Given the description of an element on the screen output the (x, y) to click on. 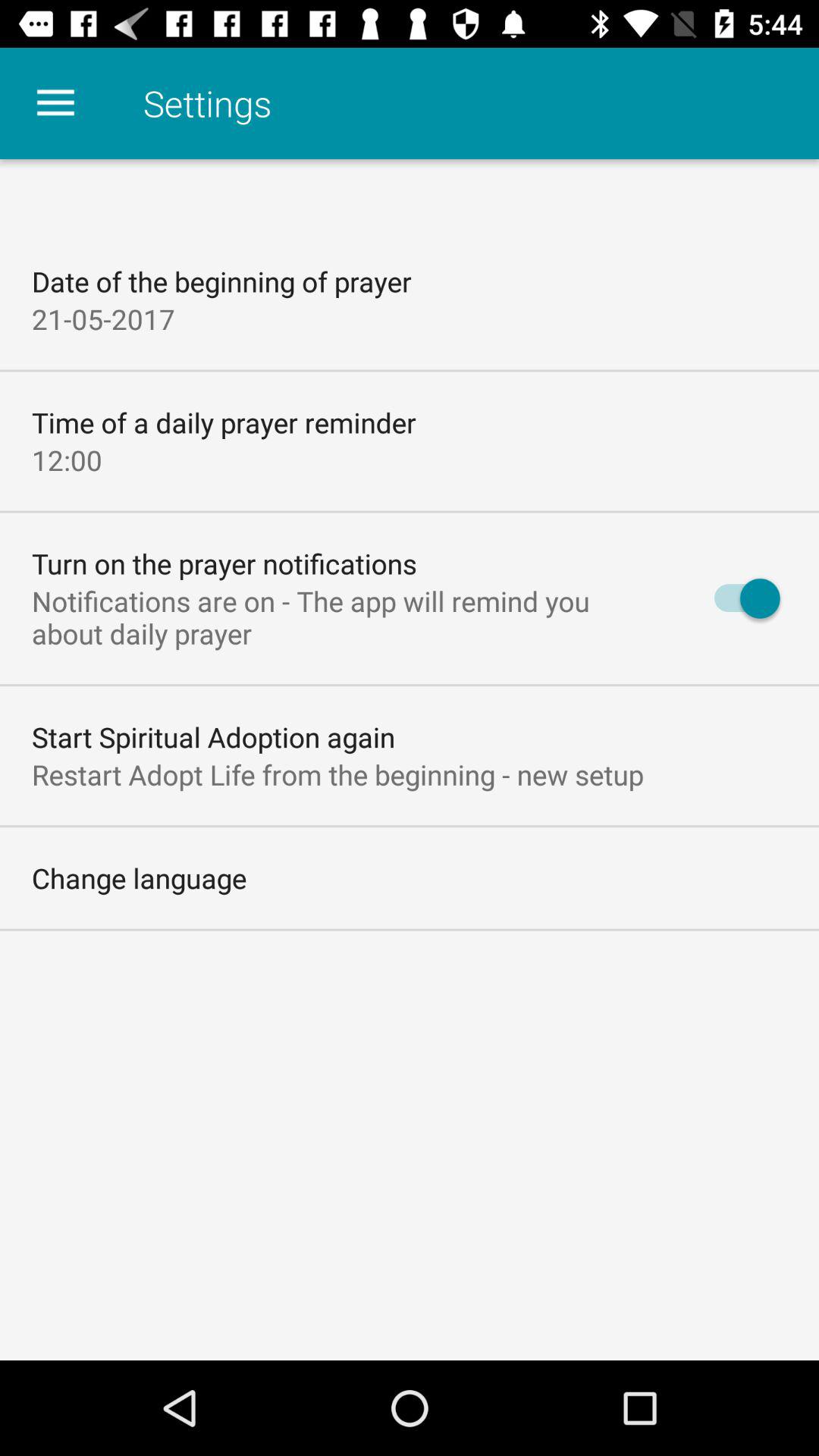
open item below the settings item (739, 598)
